Given the description of an element on the screen output the (x, y) to click on. 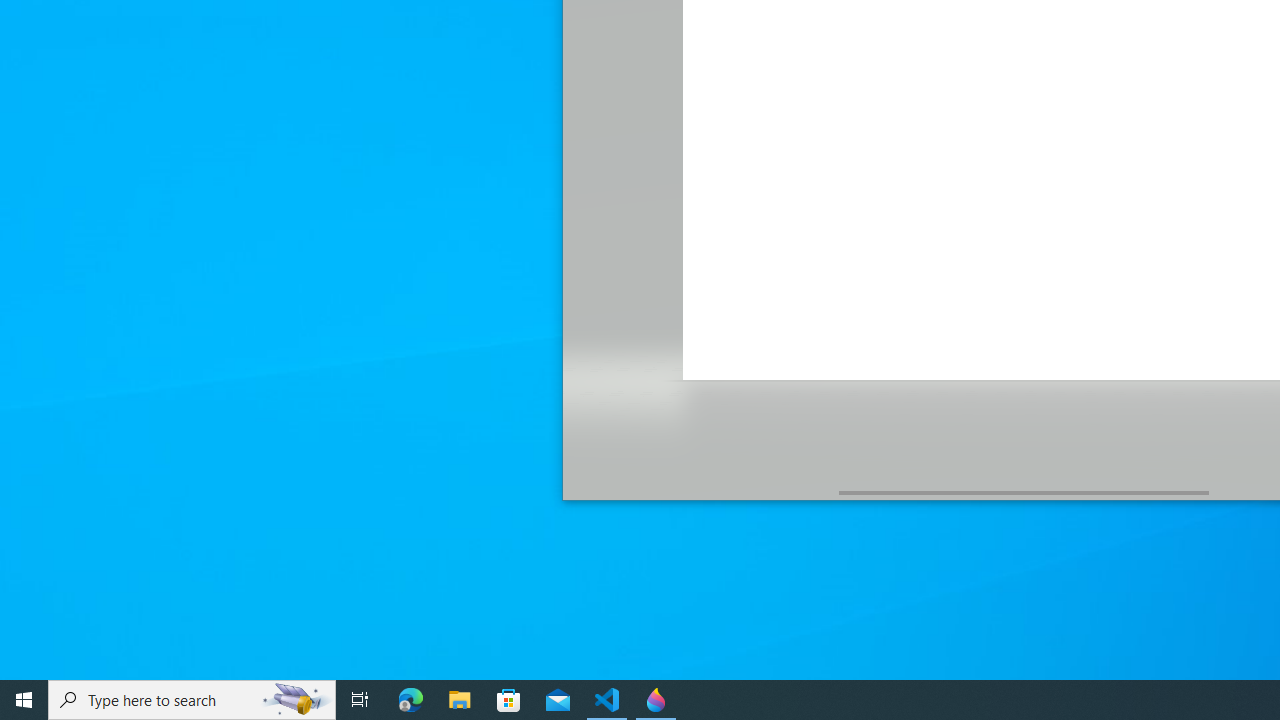
Search highlights icon opens search home window (295, 699)
File Explorer (460, 699)
Type here to search (191, 699)
Microsoft Edge (411, 699)
Task View (359, 699)
Paint 3D - 1 running window (656, 699)
Microsoft Store (509, 699)
Visual Studio Code - 1 running window (607, 699)
Start (24, 699)
